Given the description of an element on the screen output the (x, y) to click on. 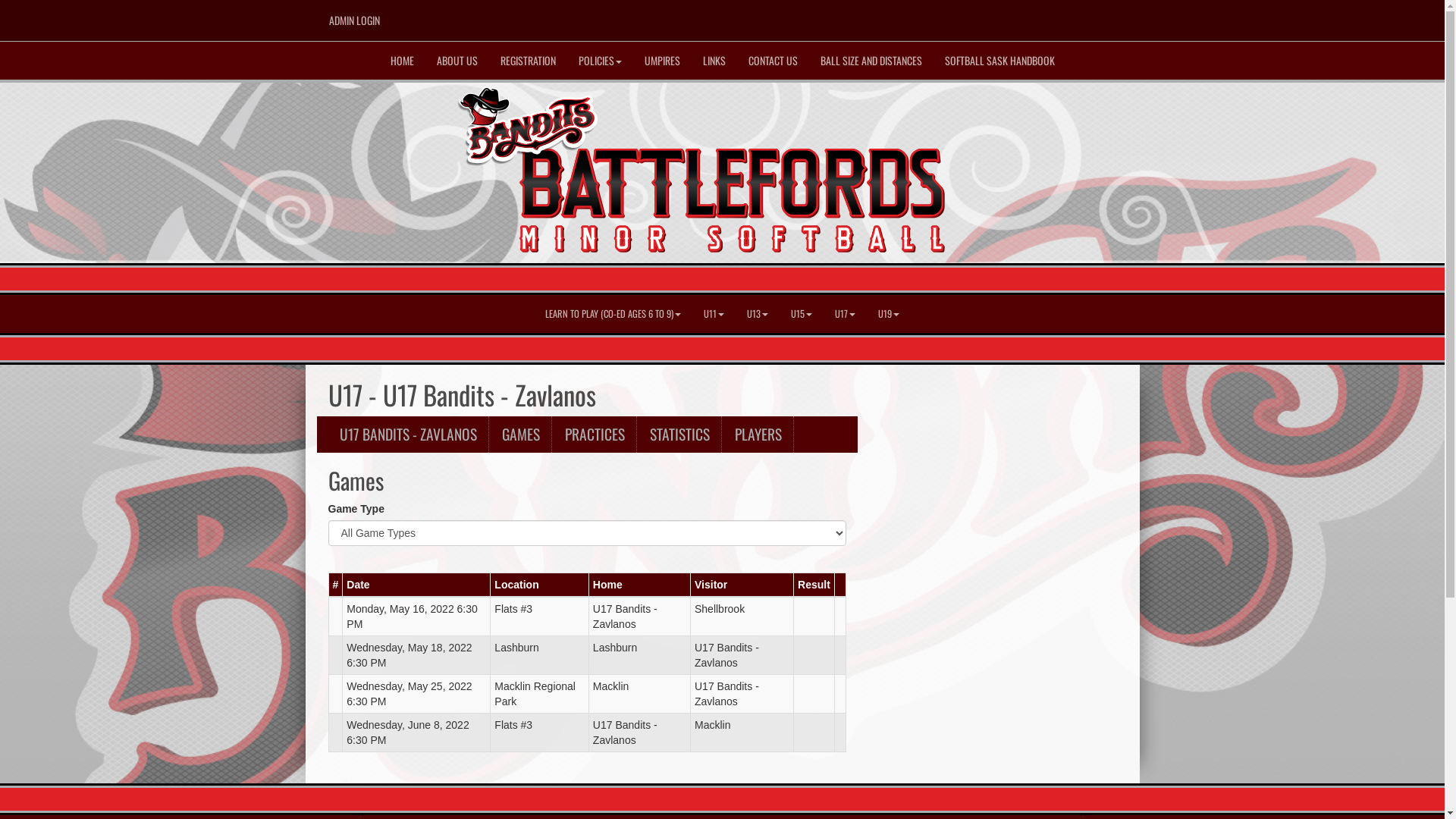
SOFTBALL SASK HANDBOOK Element type: text (998, 60)
PRACTICES Element type: text (595, 434)
 ADMIN LOGIN
ADMIN LOGIN Element type: text (352, 20)
Instagram Element type: text (1106, 15)
LEARN TO PLAY (CO-ED AGES 6 TO 9) Element type: text (612, 313)
U17 Element type: text (844, 313)
STATISTICS Element type: text (679, 434)
ABOUT US Element type: text (456, 60)
HOME Element type: text (402, 60)
U17 BANDITS - ZAVLANOS Element type: text (407, 434)
U11 Element type: text (713, 313)
POLICIES Element type: text (600, 60)
REGISTRATION Element type: text (527, 60)
U13 Element type: text (757, 313)
LINKS Element type: text (714, 60)
U19 Element type: text (888, 313)
Facebook Element type: text (1061, 15)
PLAYERS Element type: text (758, 434)
UMPIRES Element type: text (661, 60)
Twitter Element type: text (1084, 15)
CONTACT US Element type: text (773, 60)
GAMES Element type: text (520, 434)
BALL SIZE AND DISTANCES Element type: text (870, 60)
U15 Element type: text (801, 313)
